Given the description of an element on the screen output the (x, y) to click on. 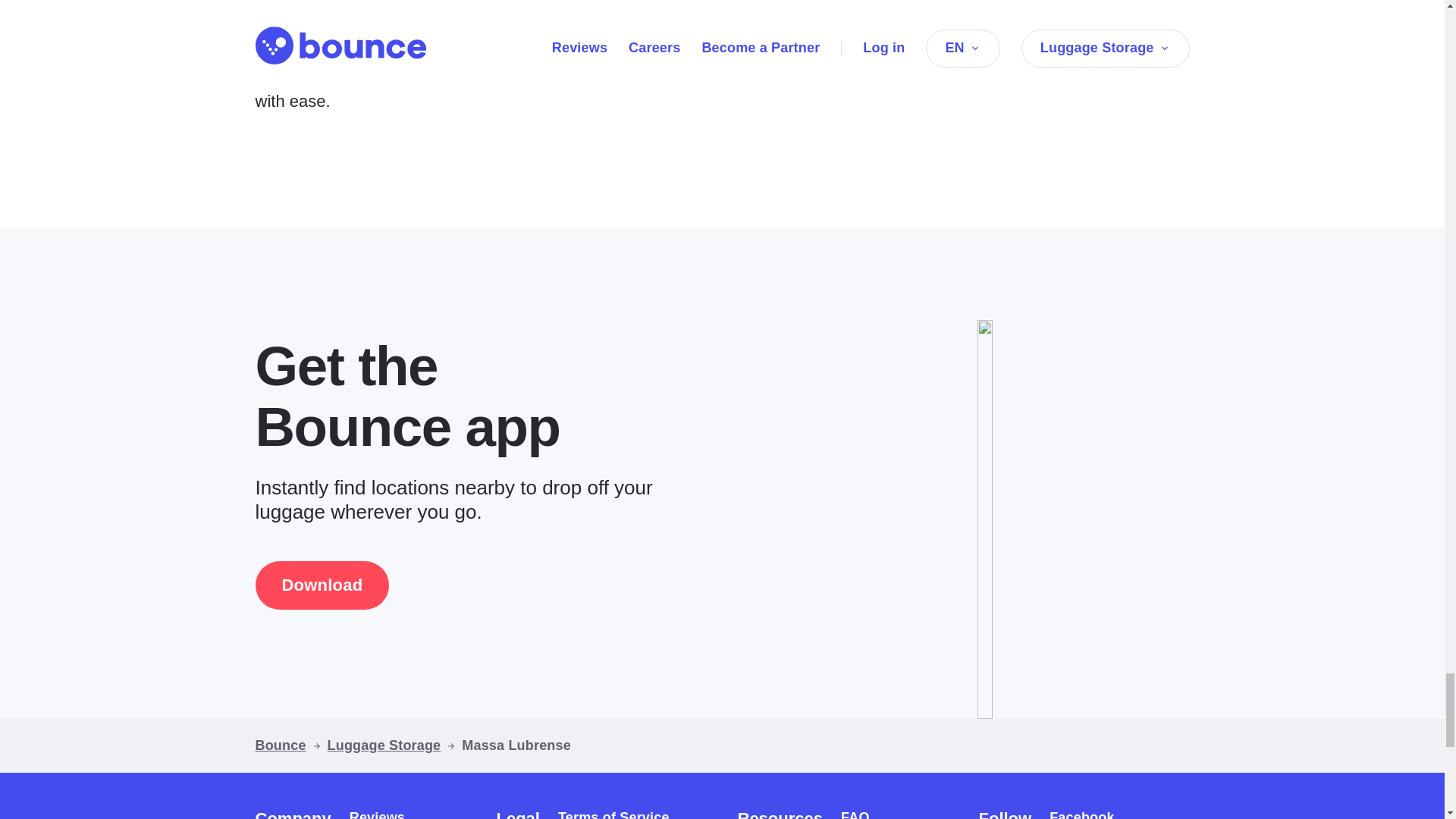
Reviews (376, 814)
Bounce (279, 745)
FAQ (855, 814)
Ischia (435, 57)
Amalfi (343, 57)
Terms of Service (613, 814)
Naples (281, 57)
Facebook (1081, 814)
Download (321, 585)
Luggage Storage (384, 745)
